Given the description of an element on the screen output the (x, y) to click on. 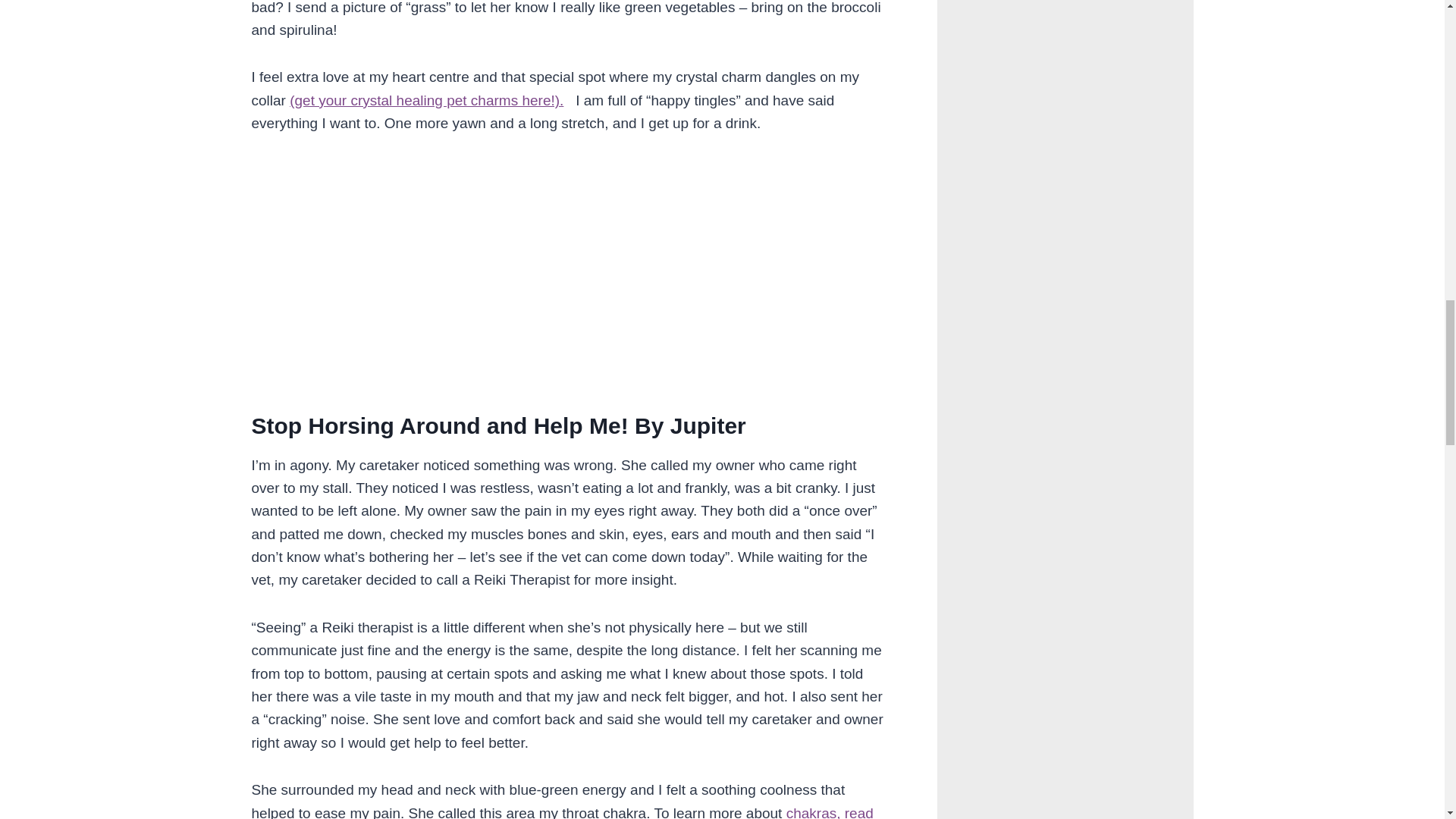
chakras, read this article. (562, 812)
